Given the description of an element on the screen output the (x, y) to click on. 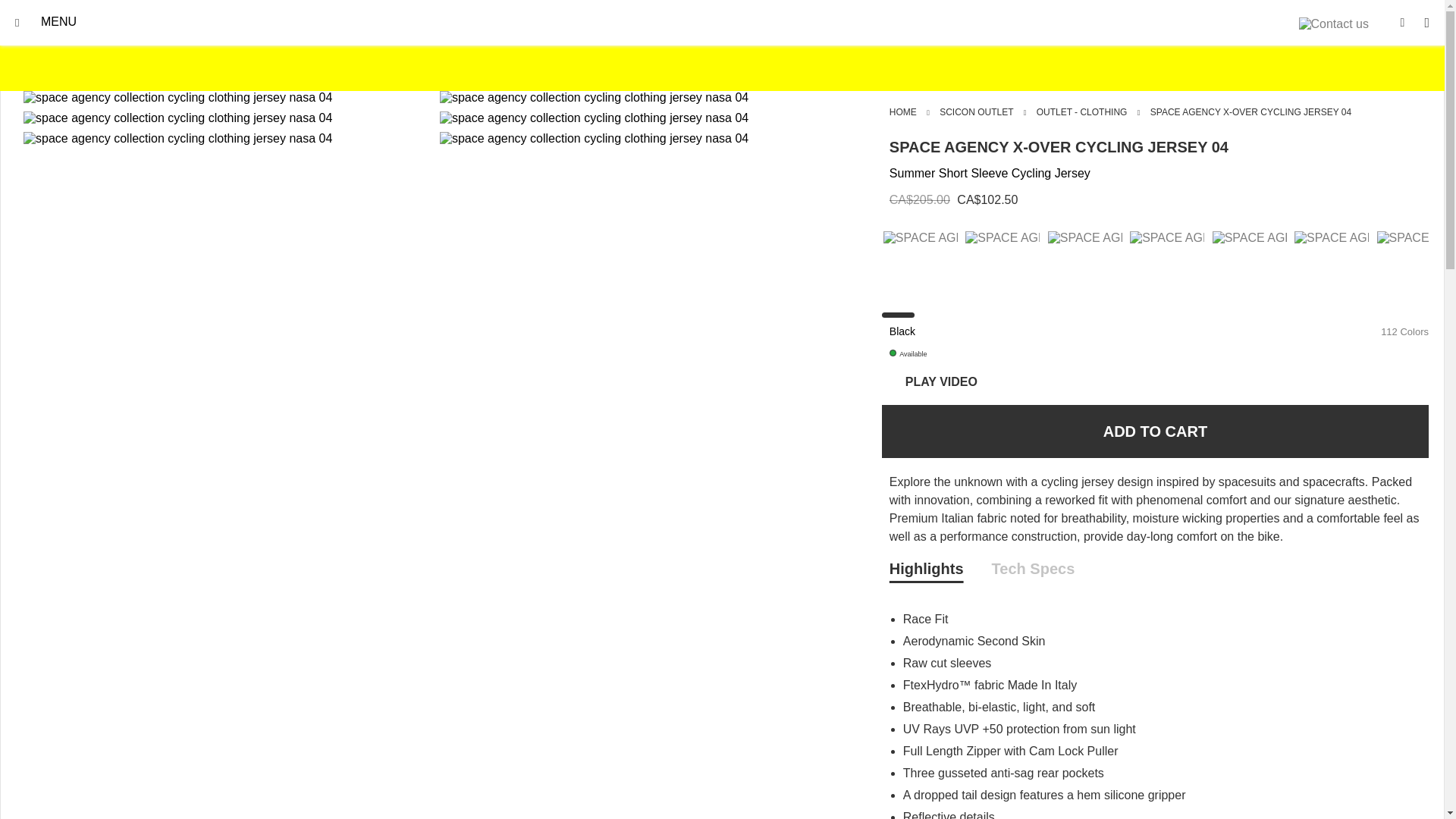
Go to Home Page (903, 112)
SPACE AGENCY X-OVER CYCLING JERSEY 01 (1085, 266)
SPACE AGENCY X-OVER CYCLING JERSEY 01 (921, 266)
Contact Us (1333, 22)
SPACE AGENCY X-OVER CYCLING JERSEY 01 (1002, 237)
Scicon Outlet (976, 112)
Outlet - Clothing (1081, 112)
SPACE AGENCY X-OVER CYCLING JERSEY 01 (1003, 266)
SPACE AGENCY X-OVER CYCLING JERSEY 01 (920, 237)
